Given the description of an element on the screen output the (x, y) to click on. 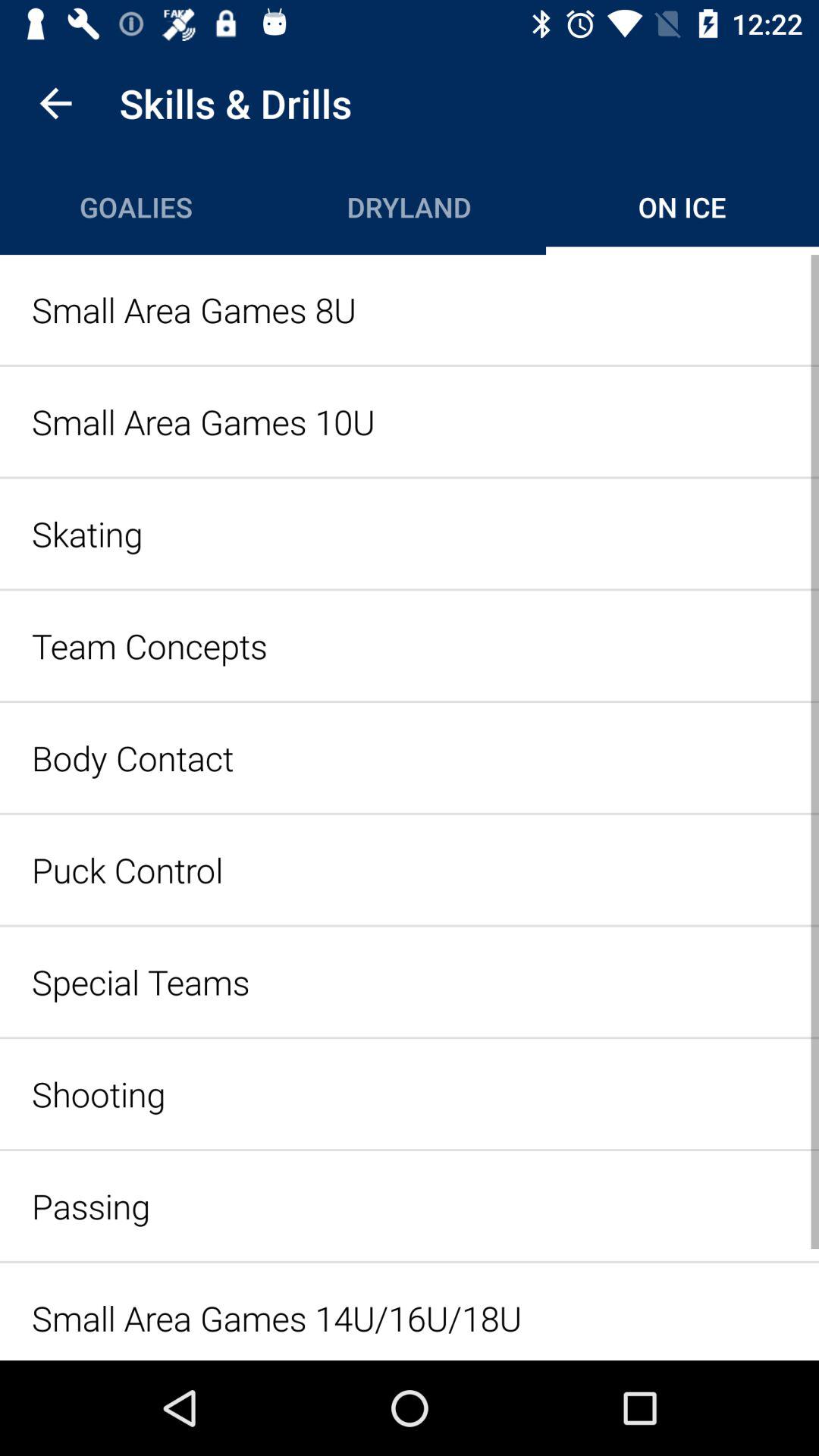
select the icon below the puck control (409, 981)
